Given the description of an element on the screen output the (x, y) to click on. 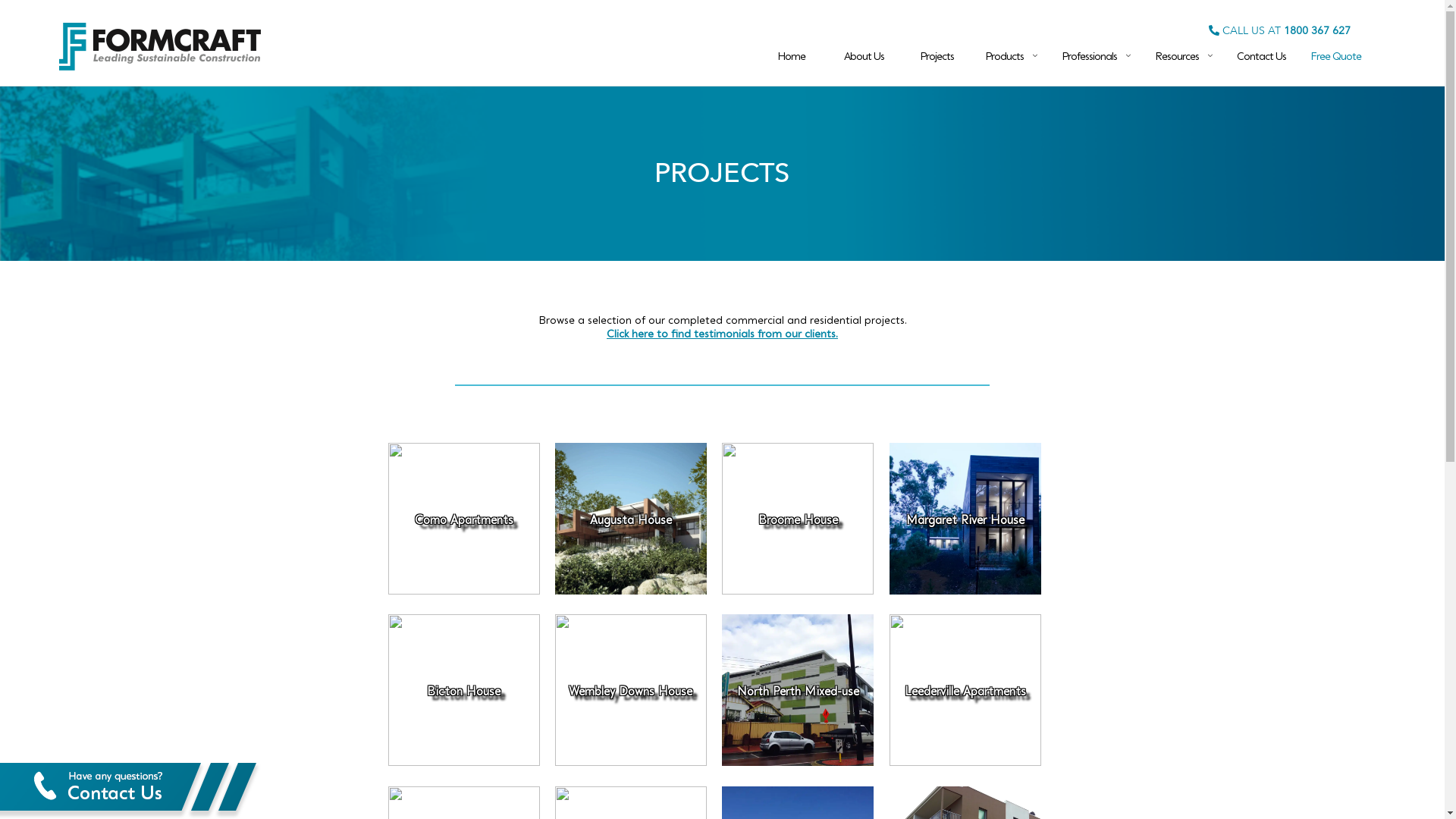
Products Element type: text (1004, 47)
Contact Us Element type: text (1261, 47)
1800 367 627 Element type: text (1316, 30)
Resources Element type: text (1176, 47)
About Us Element type: text (864, 47)
Professionals Element type: text (1089, 47)
Click here to find testimonials from our clients. Element type: text (721, 334)
Projects Element type: text (936, 47)
Free Quote Element type: text (1335, 47)
Home Element type: text (791, 47)
